Given the description of an element on the screen output the (x, y) to click on. 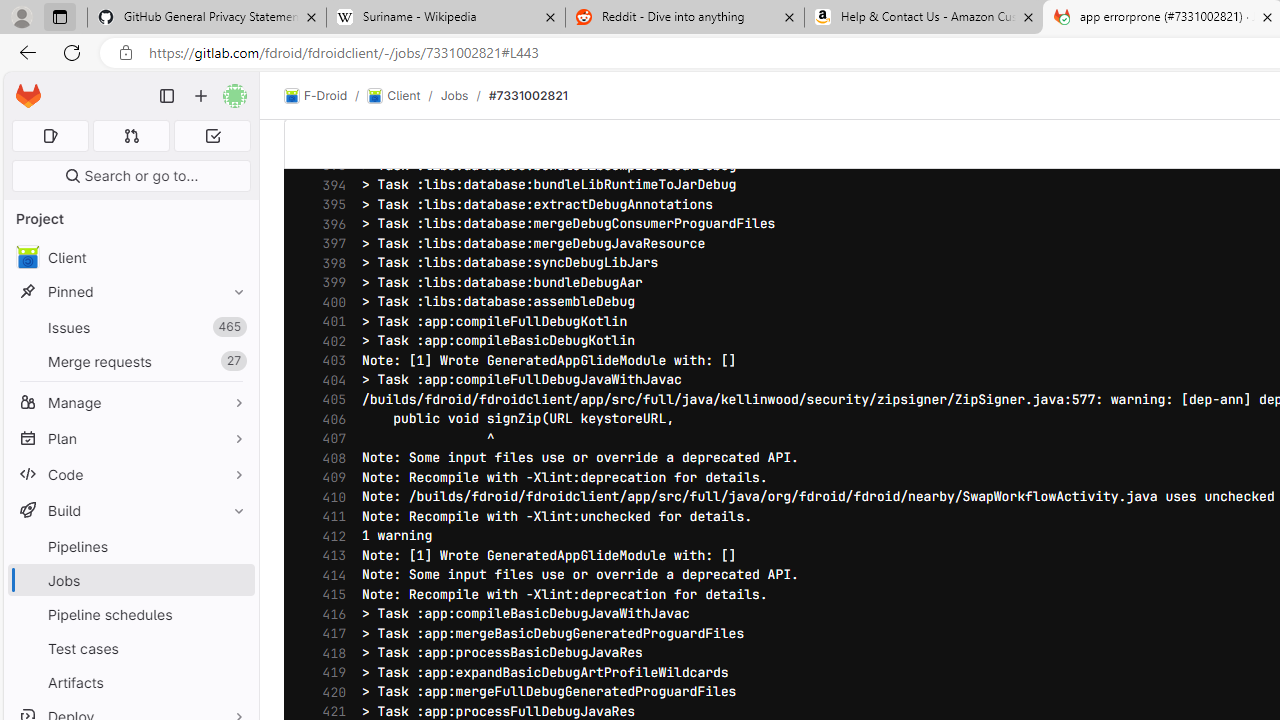
400 (329, 302)
Plan (130, 438)
Client (130, 257)
Assigned issues 0 (50, 136)
Code (130, 474)
Manage (130, 402)
Unpin Issues (234, 327)
Test cases (130, 648)
396 (329, 223)
GitHub General Privacy Statement - GitHub Docs (207, 17)
398 (329, 263)
Pin Pipeline schedules (234, 614)
Artifacts (130, 682)
